Given the description of an element on the screen output the (x, y) to click on. 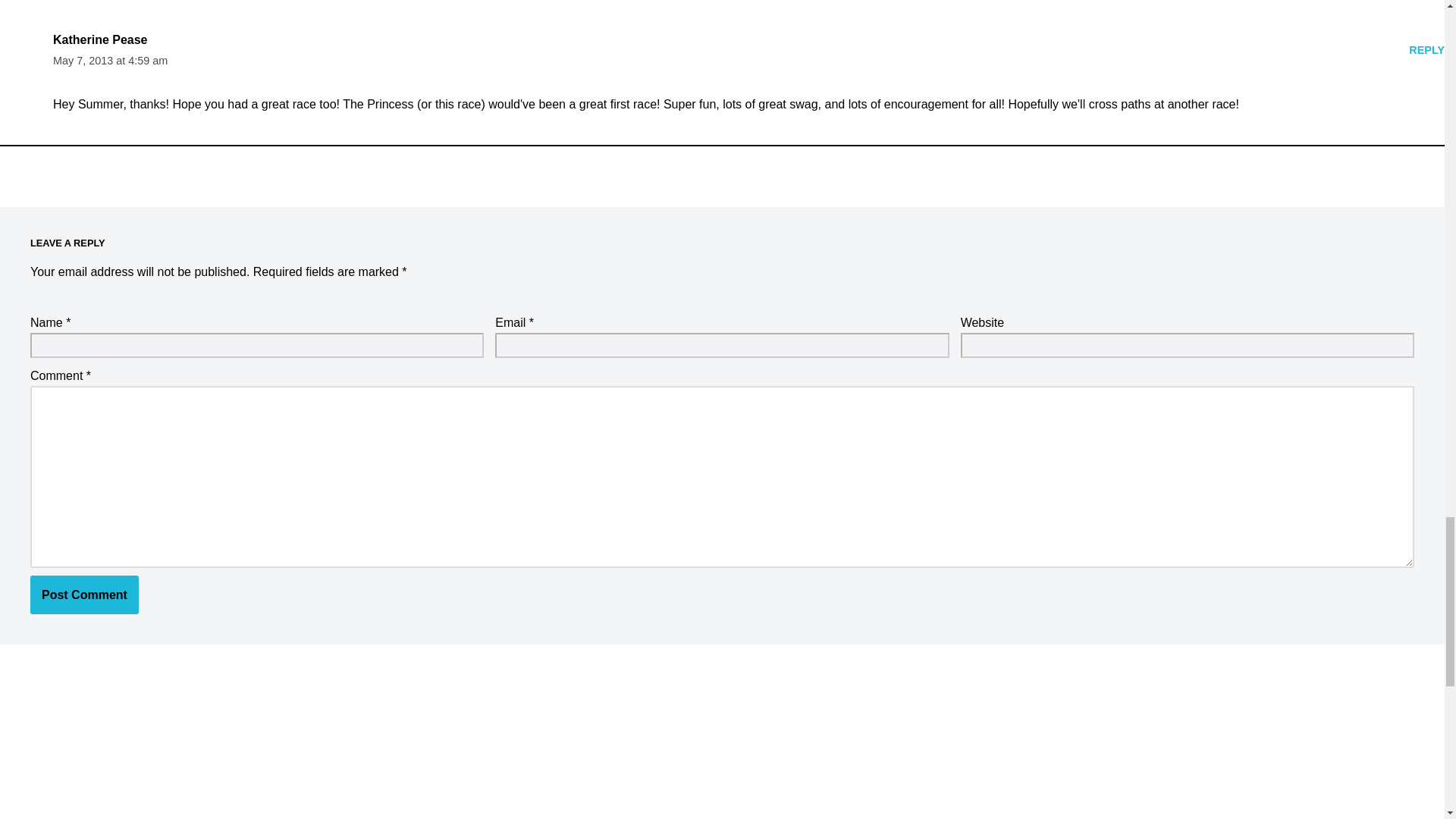
Post Comment (84, 595)
